Given the description of an element on the screen output the (x, y) to click on. 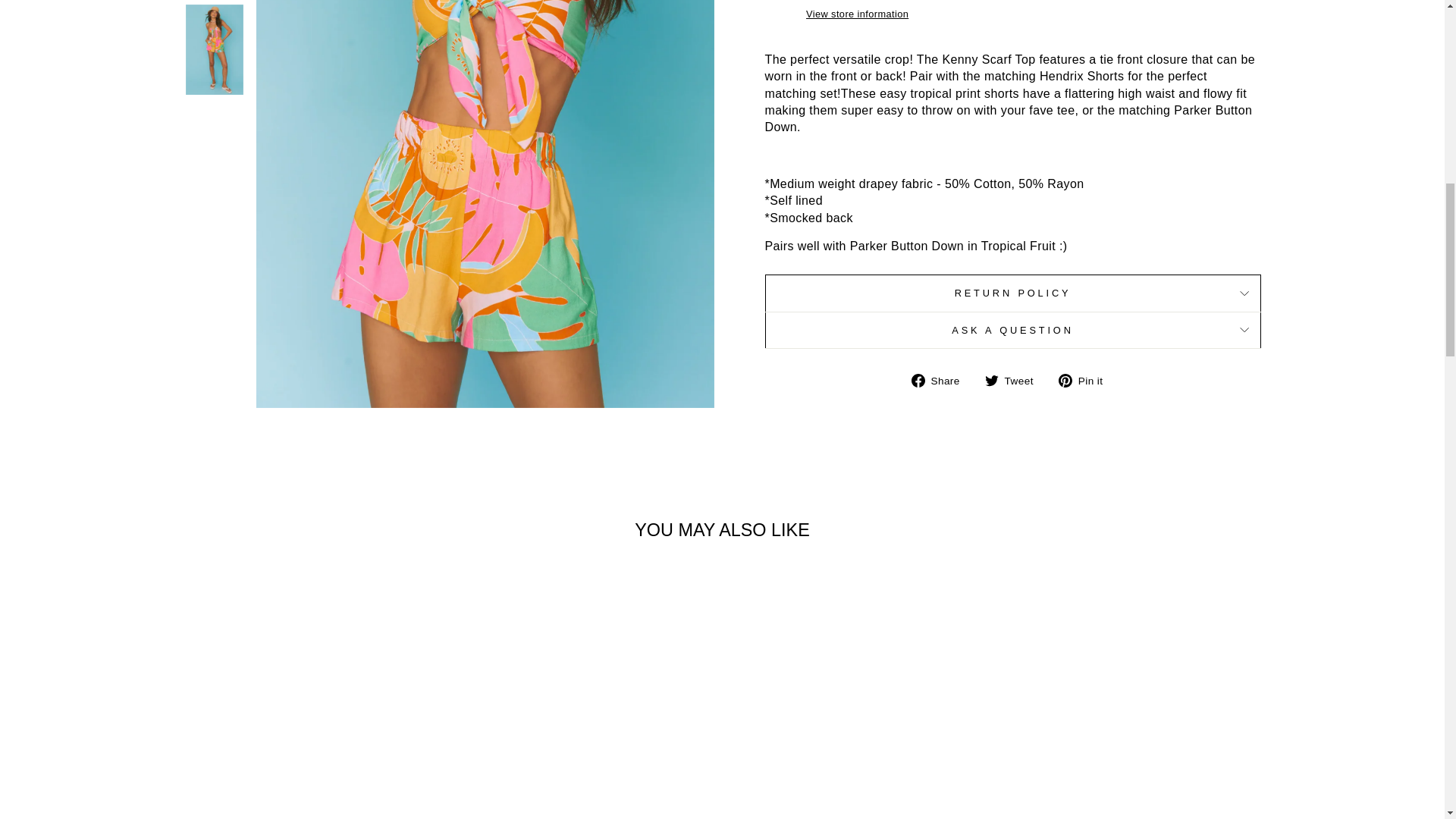
twitter (991, 380)
Pin on Pinterest (1085, 379)
Share on Facebook (941, 379)
Tweet on Twitter (1015, 379)
